Given the description of an element on the screen output the (x, y) to click on. 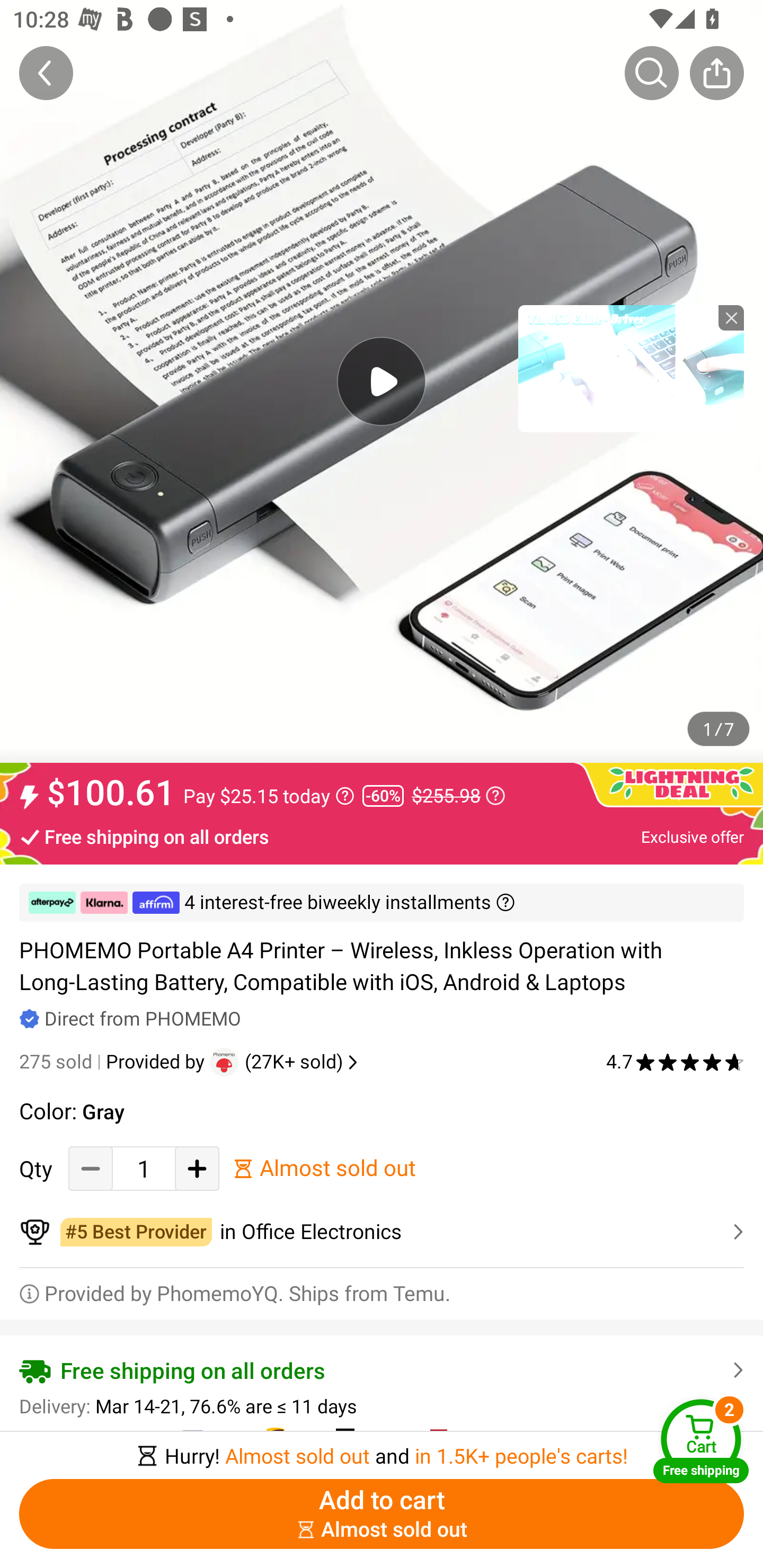
Back (46, 72)
Share (716, 72)
tronplayer_view (631, 368)
Pay $25.15 today   (268, 795)
Free shipping on all orders Exclusive offer (381, 836)
￼ ￼ ￼ 4 interest-free biweekly installments ￼ (381, 902)
4.7 (674, 1061)
Decrease Quantity Button (90, 1168)
1 (143, 1168)
Add Quantity button (196, 1168)
￼￼in Office Electronics (381, 1231)
Cart Free shipping Cart (701, 1440)
Add to cart ￼￼Almost sold out (381, 1513)
